Given the description of an element on the screen output the (x, y) to click on. 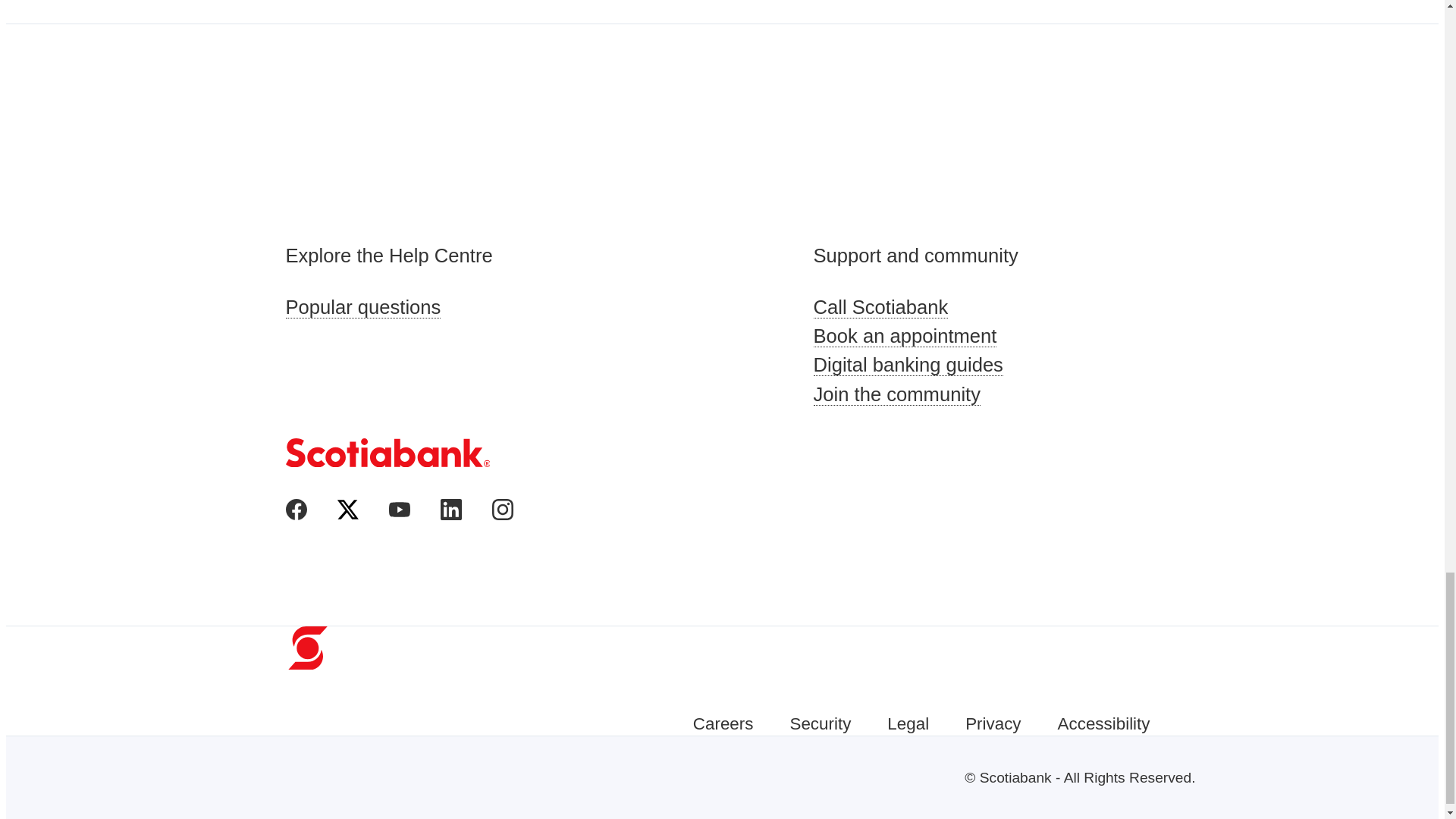
Careers (723, 722)
Accessibility (1104, 722)
Digital banking guides (926, 364)
Join the community (926, 394)
Privacy (992, 722)
Call Scotiabank (926, 306)
Scotiabank (387, 462)
Scotiabank (387, 452)
Book an appointment (926, 335)
Popular questions (398, 306)
Security (819, 722)
